Given the description of an element on the screen output the (x, y) to click on. 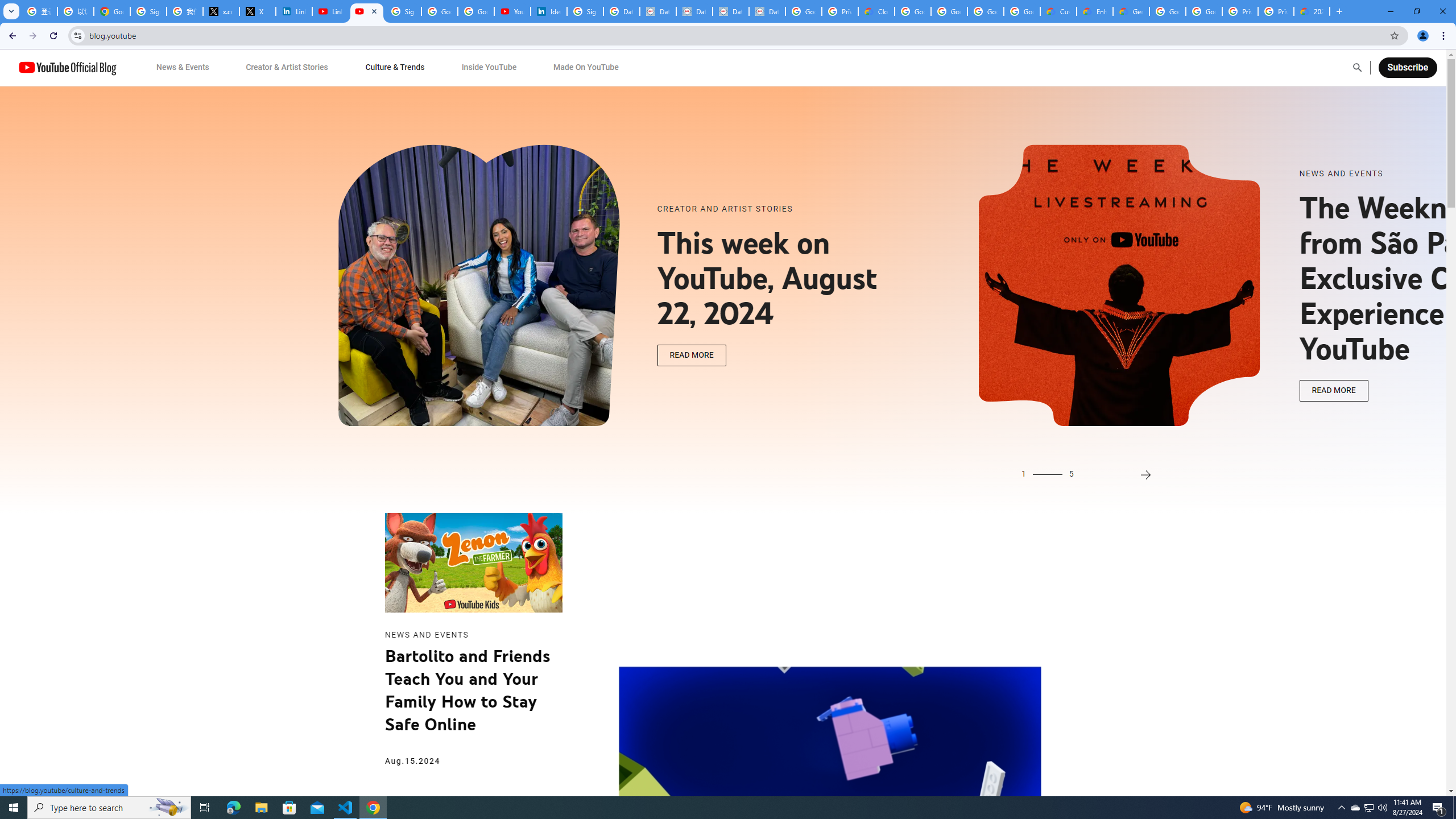
Data Privacy Framework (694, 11)
Sign in - Google Accounts (403, 11)
Cloud Data Processing Addendum | Google Cloud (876, 11)
